Given the description of an element on the screen output the (x, y) to click on. 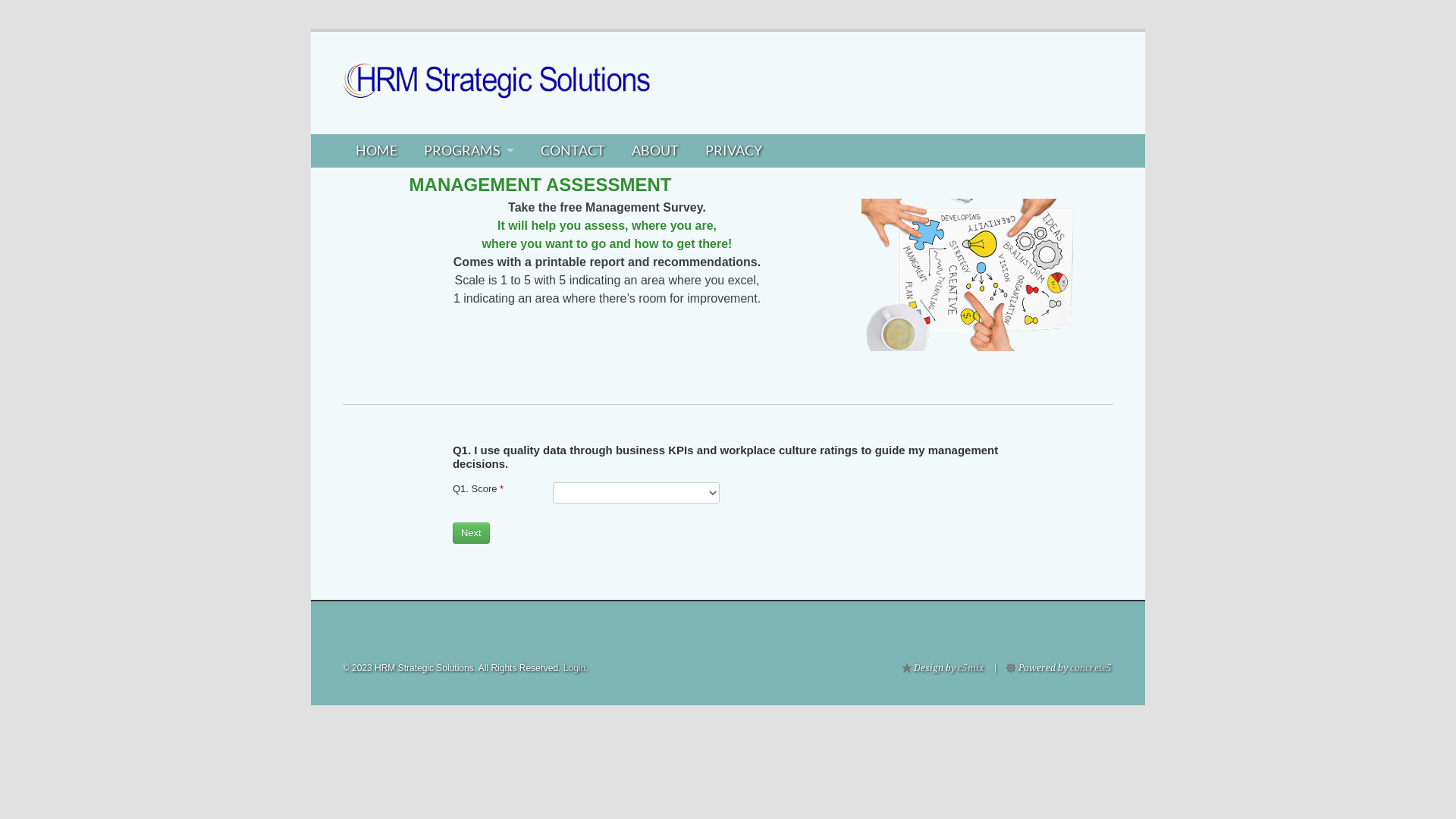
HOME Element type: text (376, 150)
concrete5 Element type: text (1090, 667)
PROGRAMS Element type: text (469, 150)
Login Element type: text (574, 667)
ABOUT Element type: text (654, 150)
HRM Strategic Solutions Element type: hover (496, 84)
PRIVACY Element type: text (733, 150)
CONTACT Element type: text (572, 150)
c5mix Element type: text (970, 667)
Management Decision Making Criteria Element type: hover (978, 274)
Next Element type: text (470, 532)
